Given the description of an element on the screen output the (x, y) to click on. 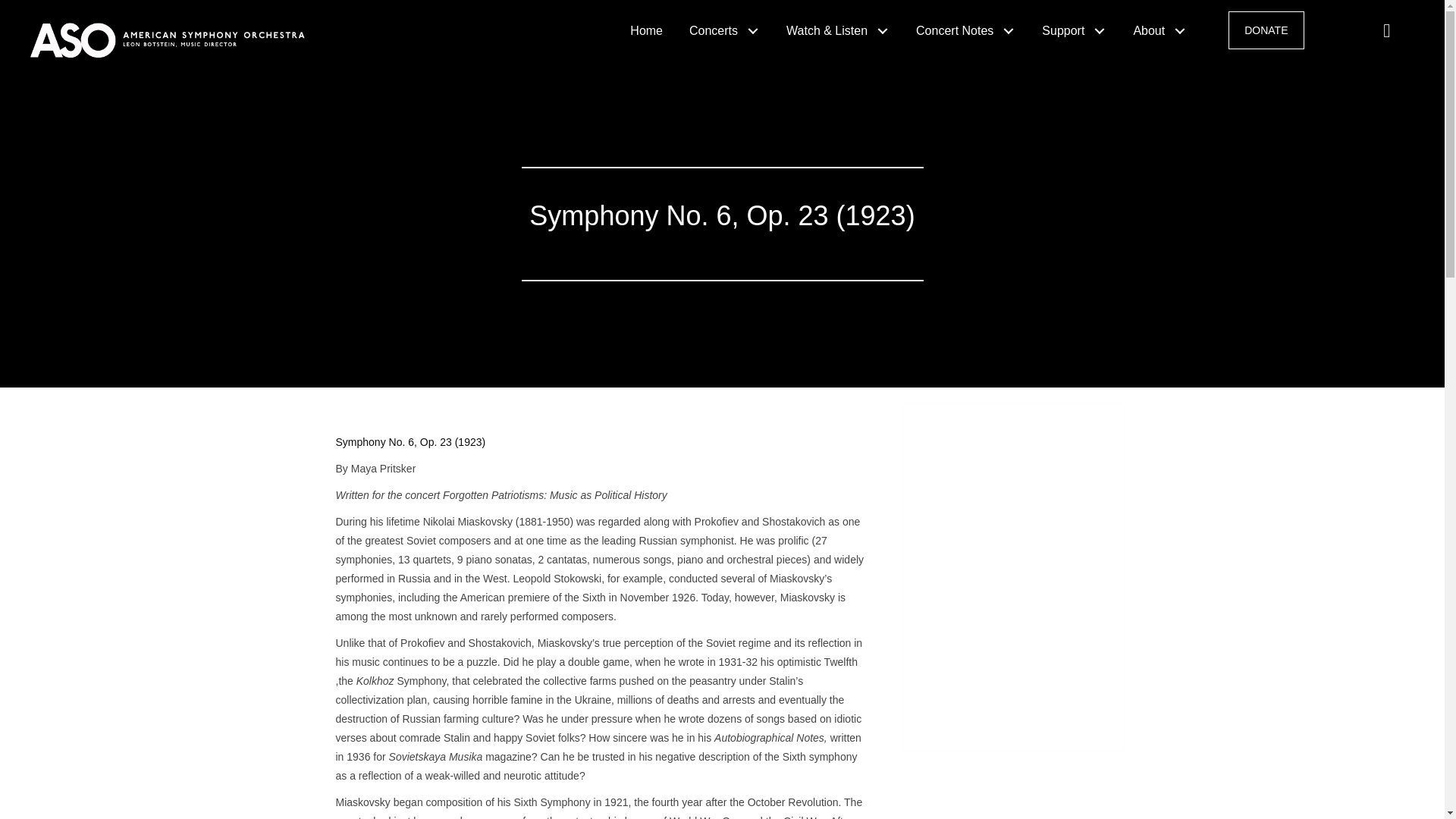
Support (1075, 30)
Home (648, 30)
Concerts (726, 30)
About (1161, 30)
Concert Notes (967, 30)
logo (188, 36)
DONATE (1265, 30)
